Given the description of an element on the screen output the (x, y) to click on. 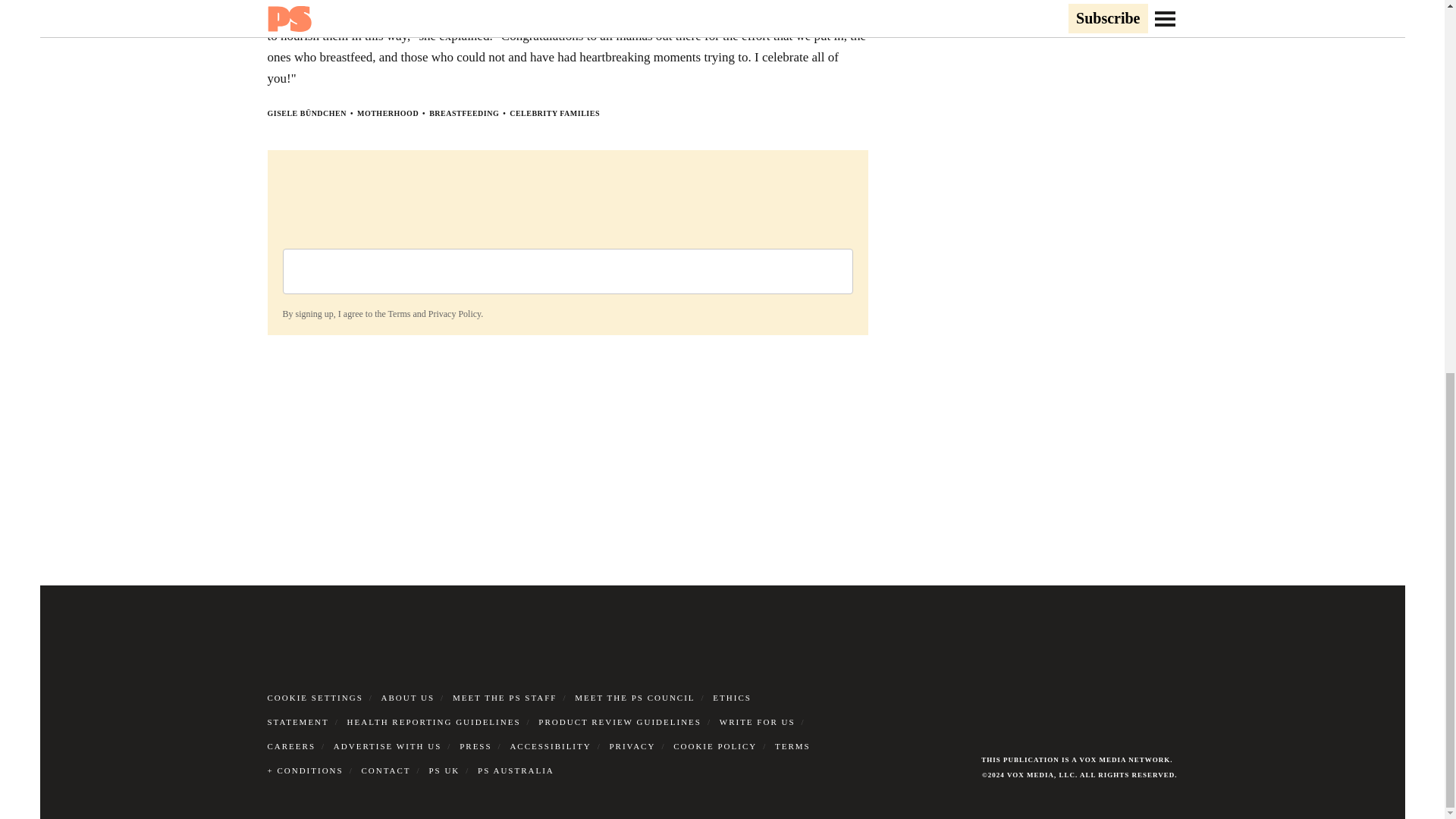
PRESS (476, 746)
CAREERS (290, 746)
MEET THE PS COUNCIL (634, 697)
COOKIE POLICY (714, 746)
Privacy Policy. (455, 313)
MEET THE PS STAFF (504, 697)
PRIVACY (633, 746)
ABOUT US (408, 697)
Terms (399, 313)
WRITE FOR US (756, 721)
